Given the description of an element on the screen output the (x, y) to click on. 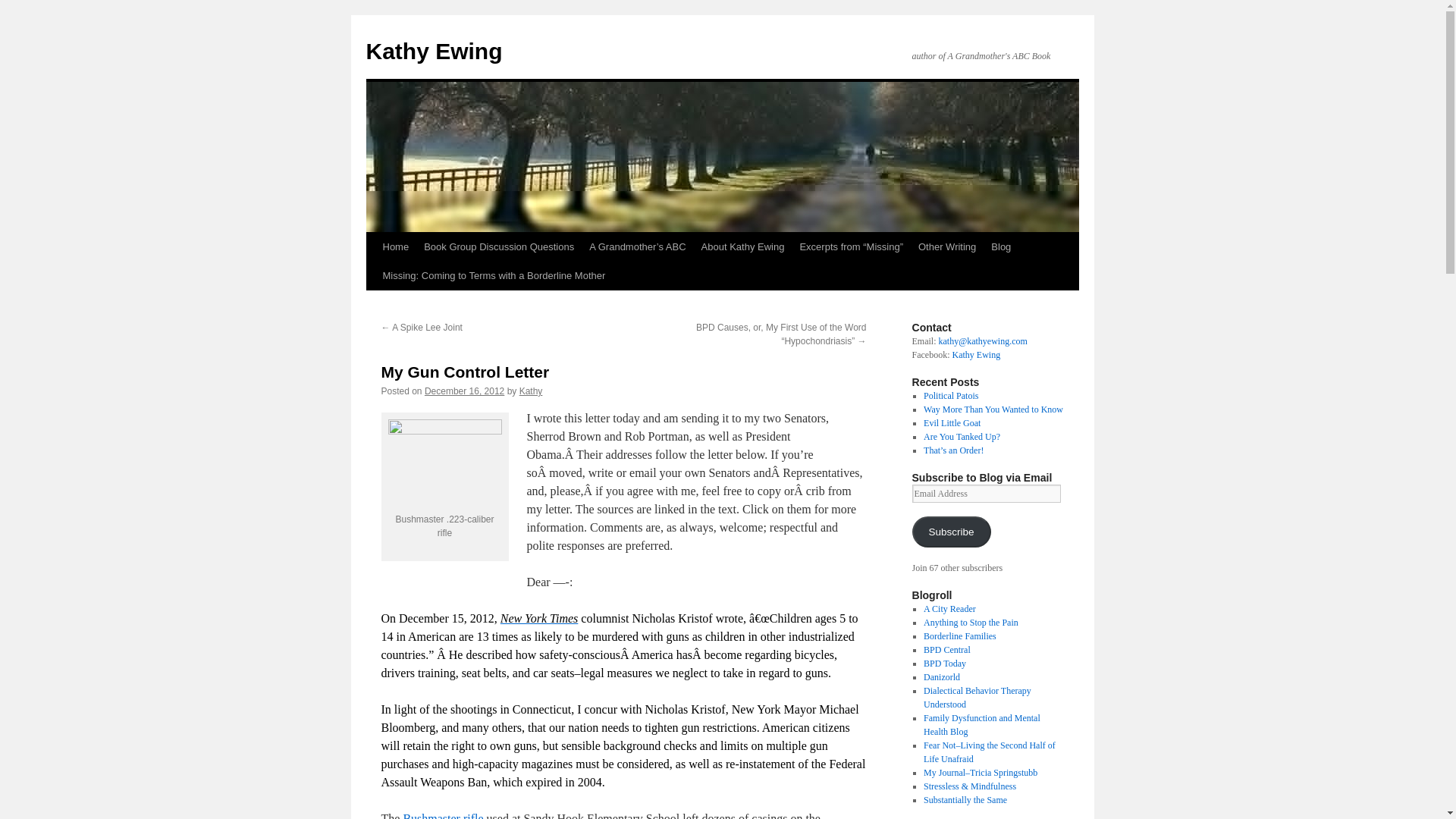
New York Times (539, 617)
Kathy Ewing (976, 354)
Blog (1000, 246)
Kathy (531, 390)
Christy Matta, M.A., blogs about DBT and BPD. (976, 697)
Kathy Ewing (433, 50)
Evil Little Goat (951, 422)
Kathy Ewing (433, 50)
Stories from Families Affected by Loved Ones with BPD (959, 635)
